Given the description of an element on the screen output the (x, y) to click on. 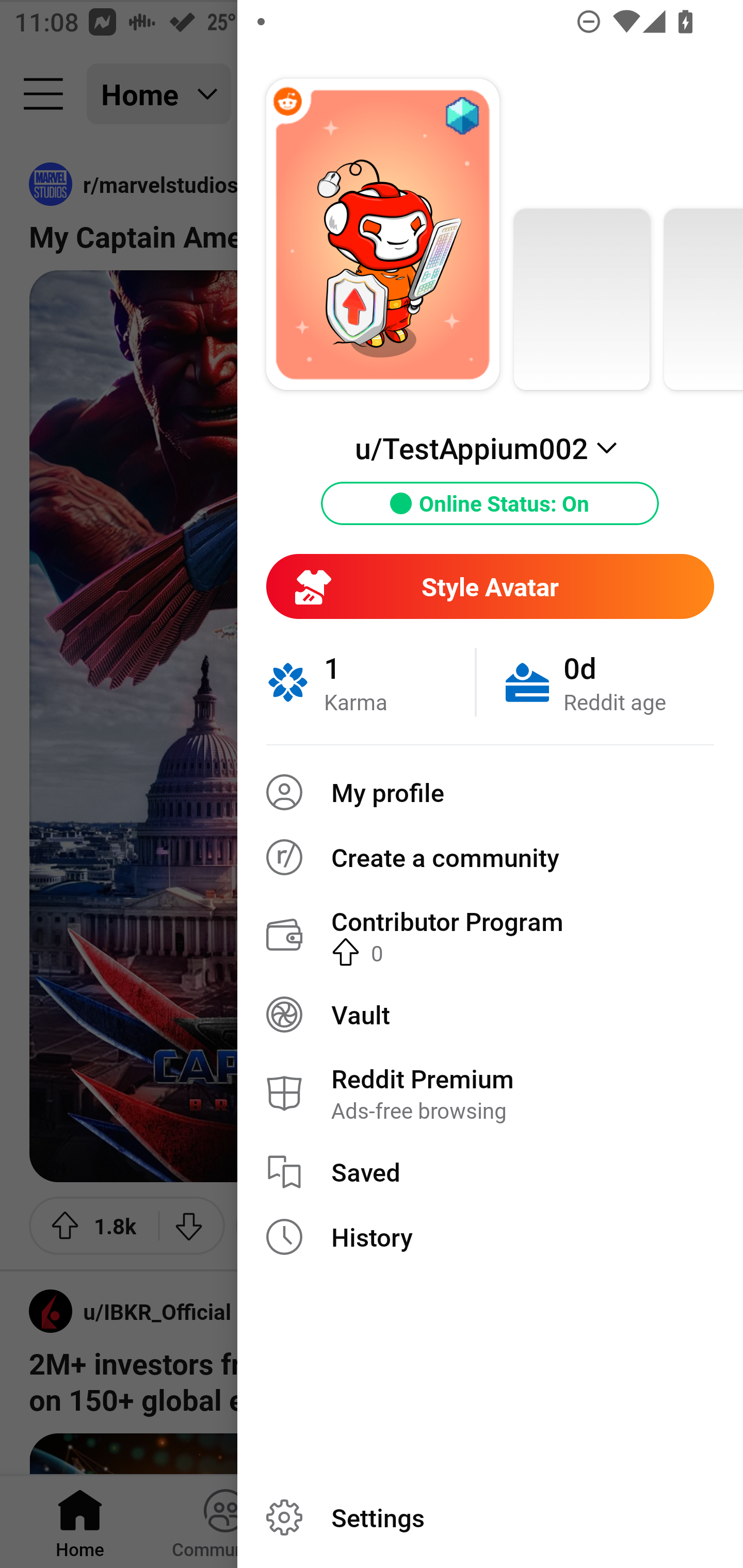
u/TestAppium002 (489, 447)
Online Status: On (489, 503)
Style Avatar (489, 586)
1 Karma 1 Karma (369, 681)
My profile (490, 792)
Create a community (490, 856)
Contributor Program Contributor Program 0 (490, 935)
Vault (490, 1014)
Saved (490, 1171)
History (490, 1237)
Settings (490, 1517)
